Given the description of an element on the screen output the (x, y) to click on. 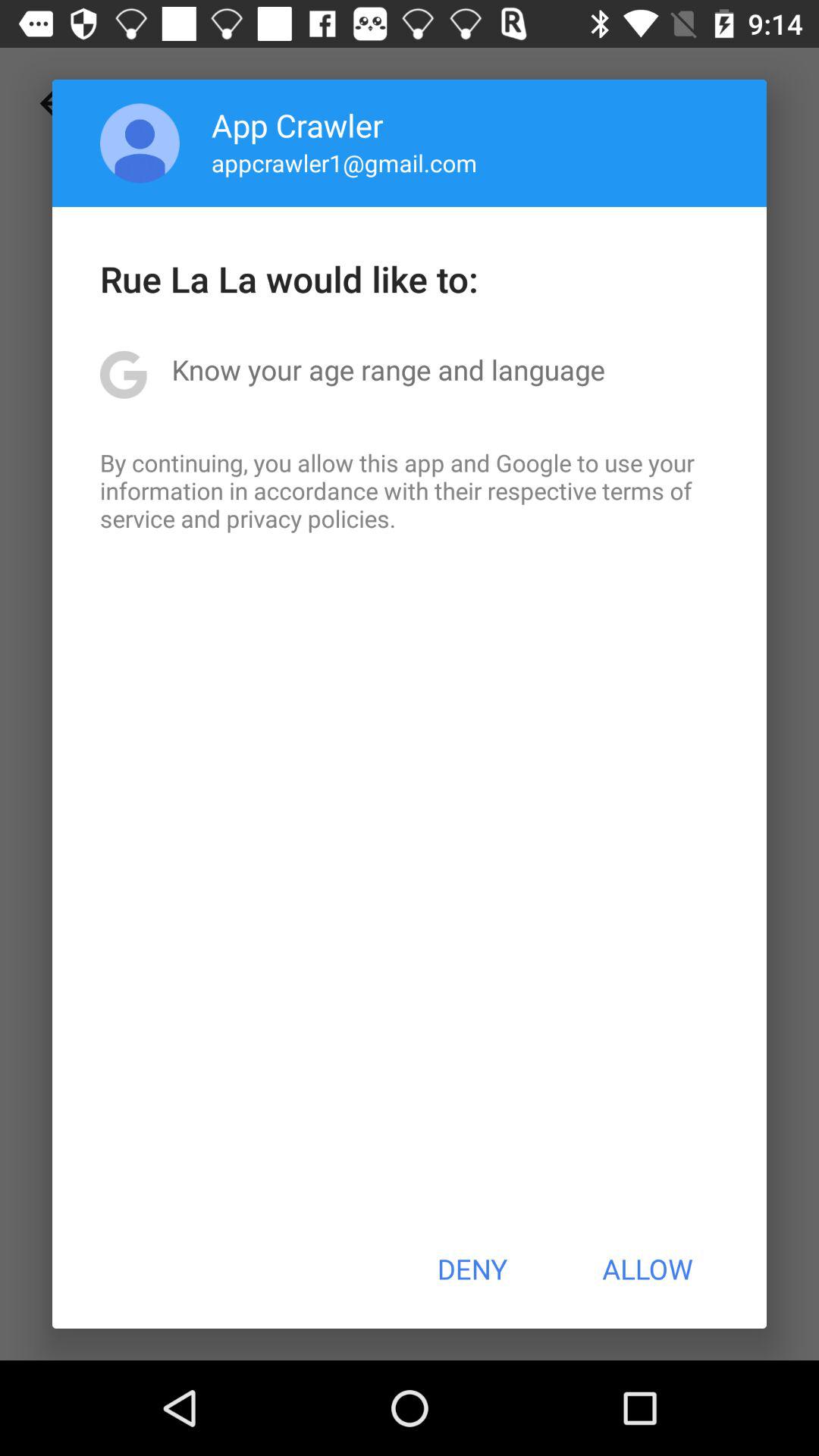
open the item above appcrawler1@gmail.com (297, 124)
